Given the description of an element on the screen output the (x, y) to click on. 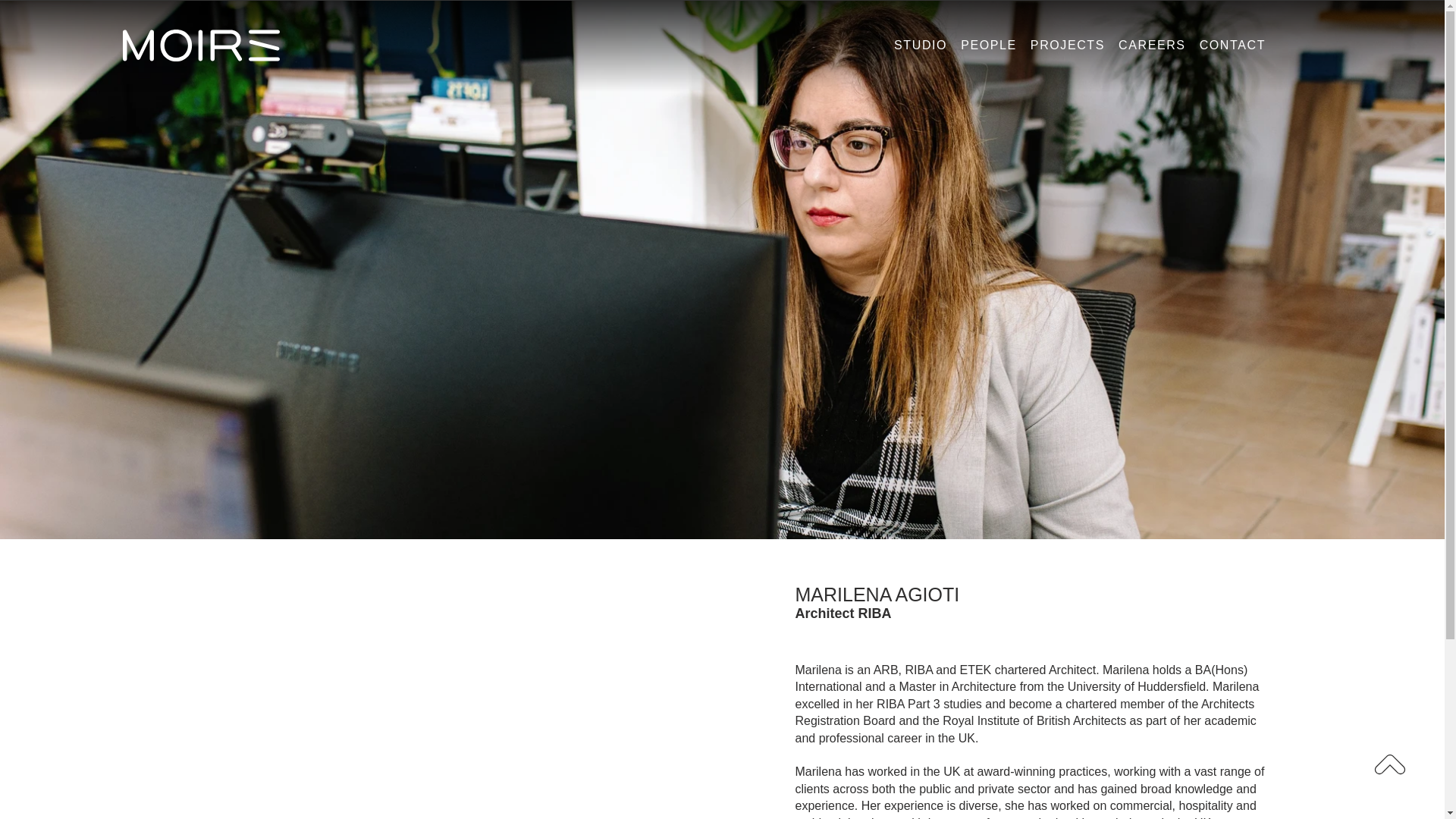
CAREERS (1148, 45)
STUDIO (916, 45)
CONTACT (1228, 45)
PEOPLE (984, 45)
PROJECTS (1064, 45)
